Given the description of an element on the screen output the (x, y) to click on. 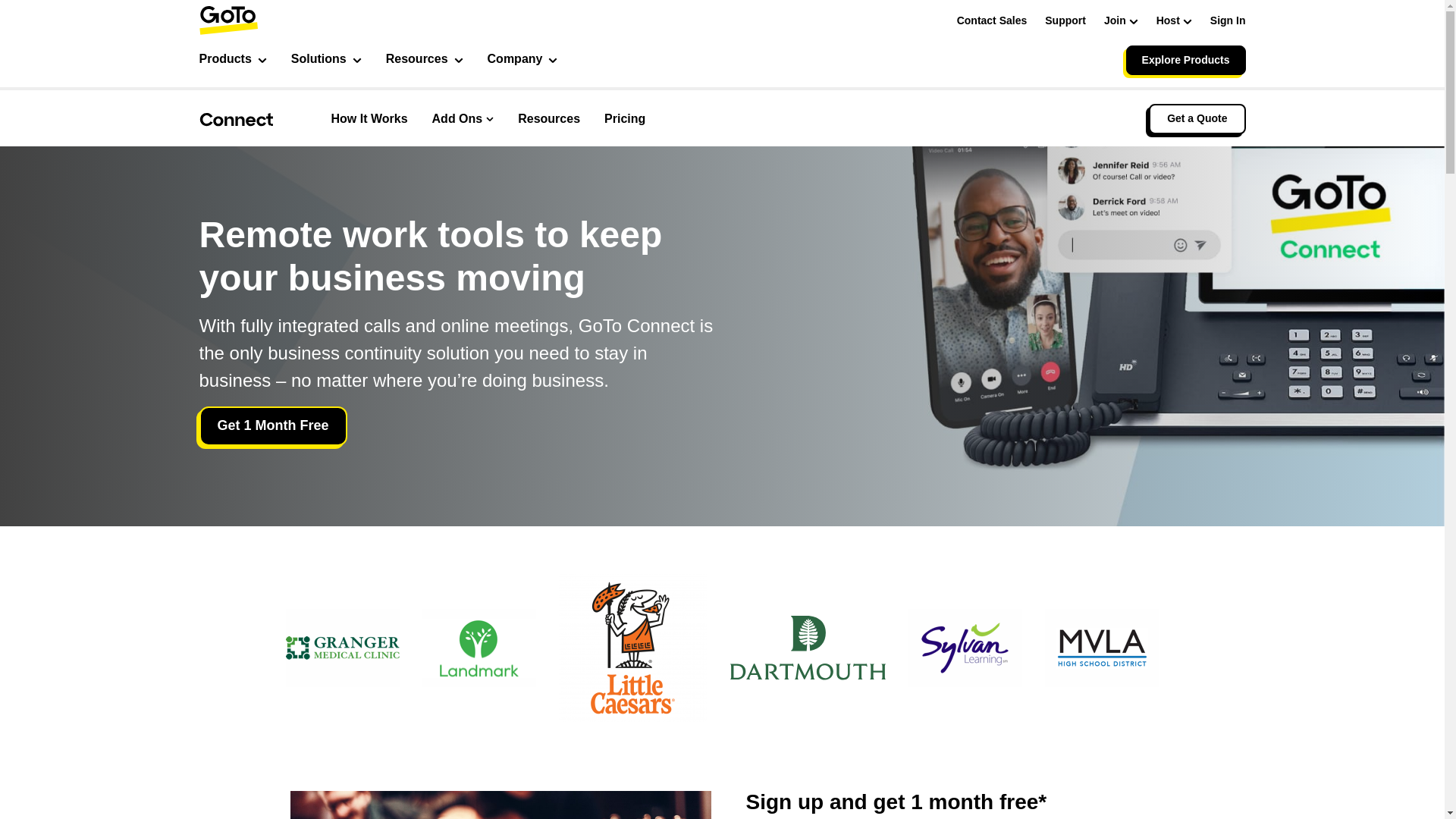
Solutions (326, 61)
Products (232, 61)
